Given the description of an element on the screen output the (x, y) to click on. 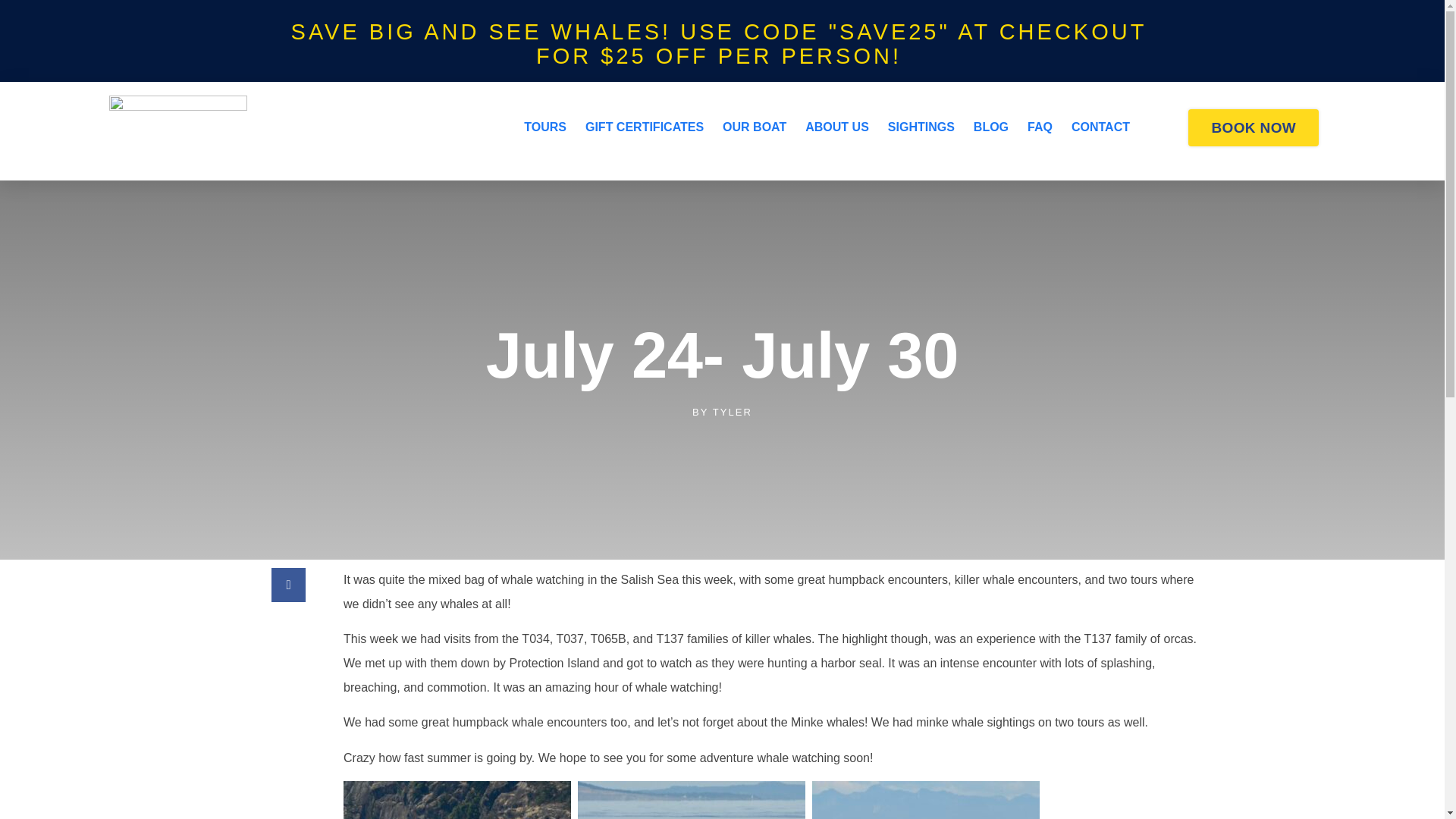
OUR BOAT (754, 127)
BLOG (991, 127)
ABOUT US (837, 127)
BOOK NOW (1253, 127)
FAQ (1039, 127)
BY TYLER (722, 412)
CONTACT (1100, 127)
SIGHTINGS (921, 127)
TOURS (545, 127)
GIFT CERTIFICATES (644, 127)
